Given the description of an element on the screen output the (x, y) to click on. 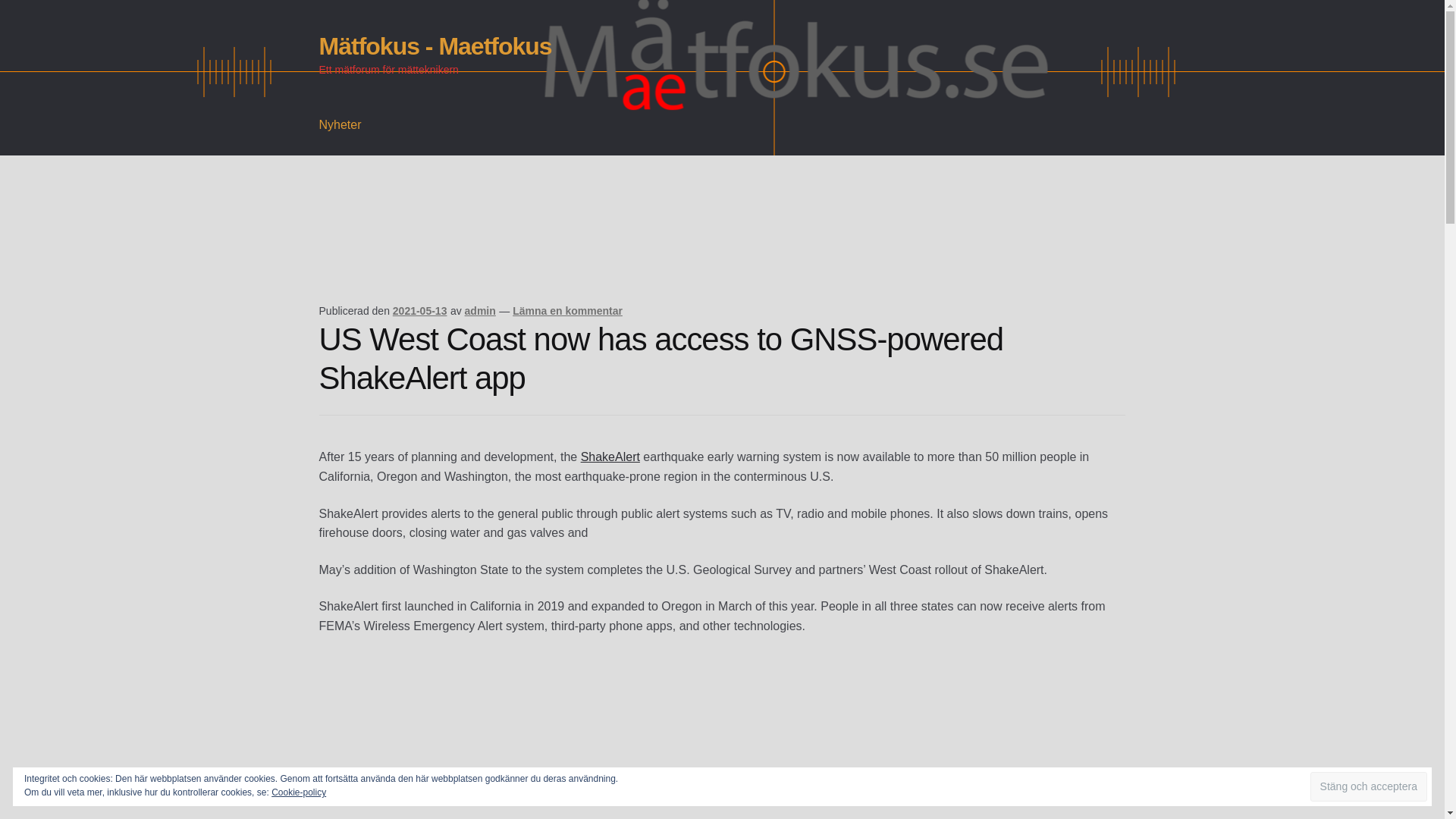
2021-05-13 (419, 310)
admin (480, 310)
Advertisement (594, 251)
Nyheter (340, 124)
ShakeAlert (610, 456)
YouTube video player (531, 736)
Cookie-policy (298, 792)
